Given the description of an element on the screen output the (x, y) to click on. 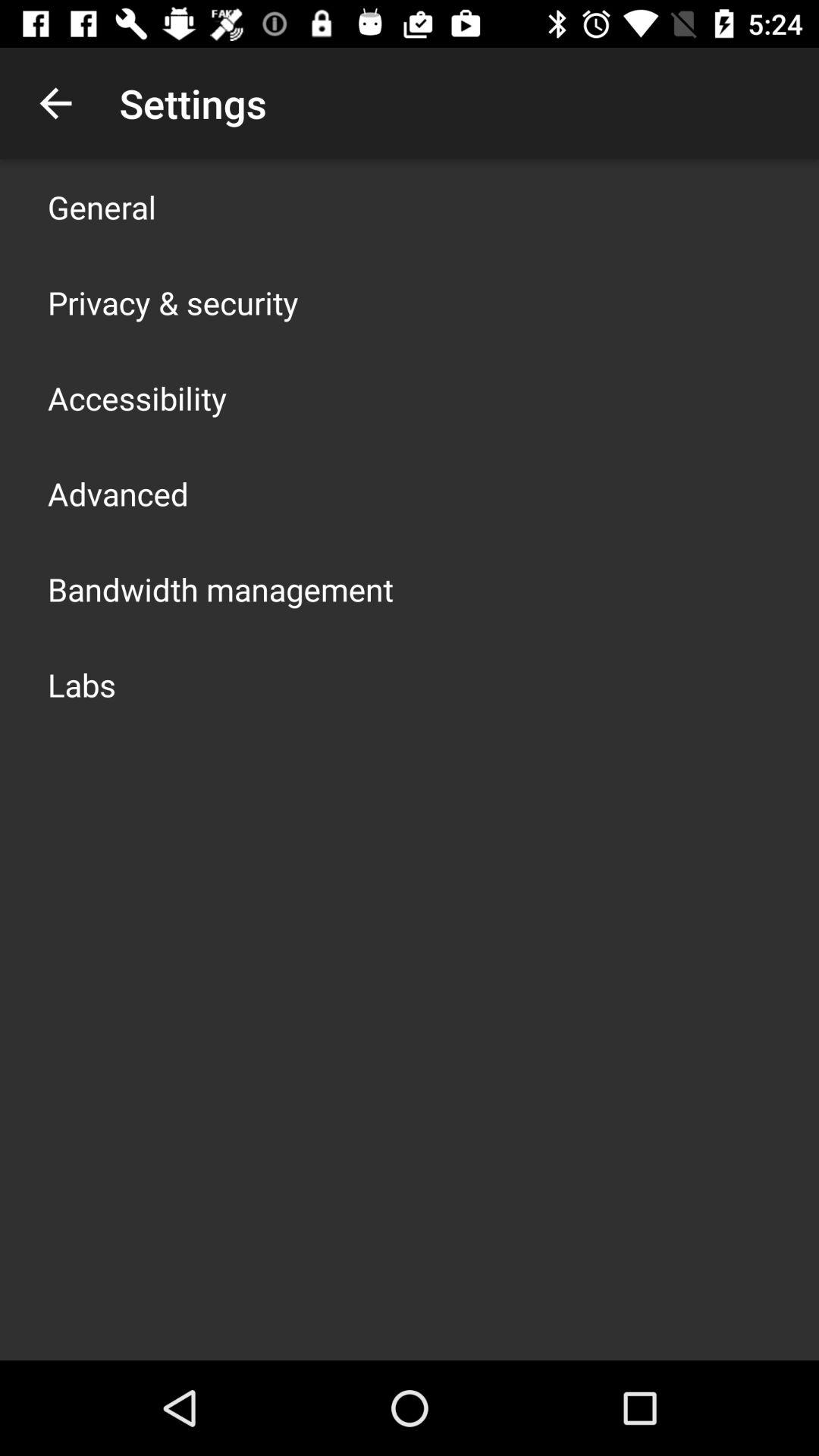
press the bandwidth management icon (220, 588)
